Given the description of an element on the screen output the (x, y) to click on. 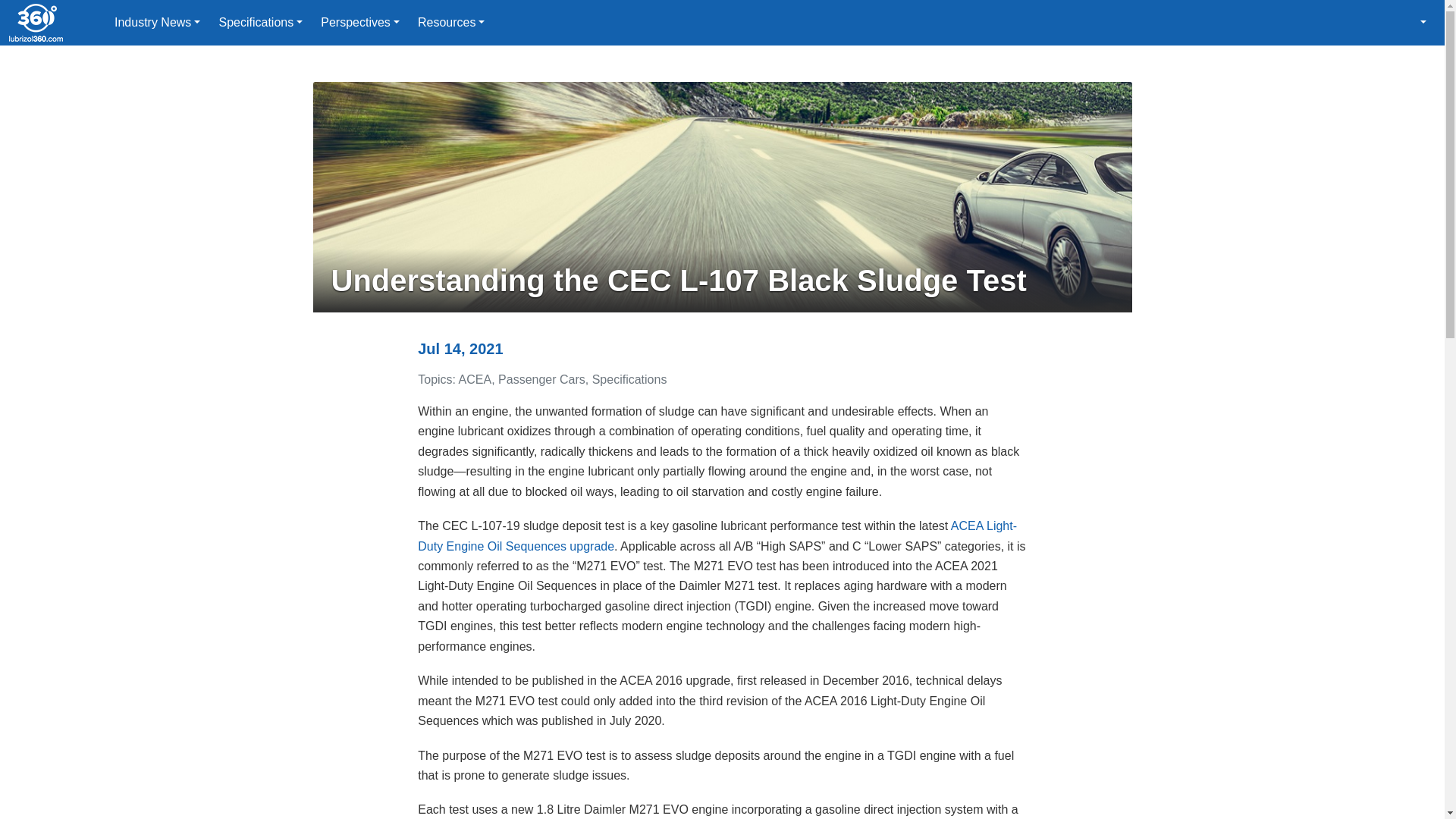
Industry News (156, 22)
Specifications (260, 22)
Resources (452, 22)
Perspectives (360, 22)
